Given the description of an element on the screen output the (x, y) to click on. 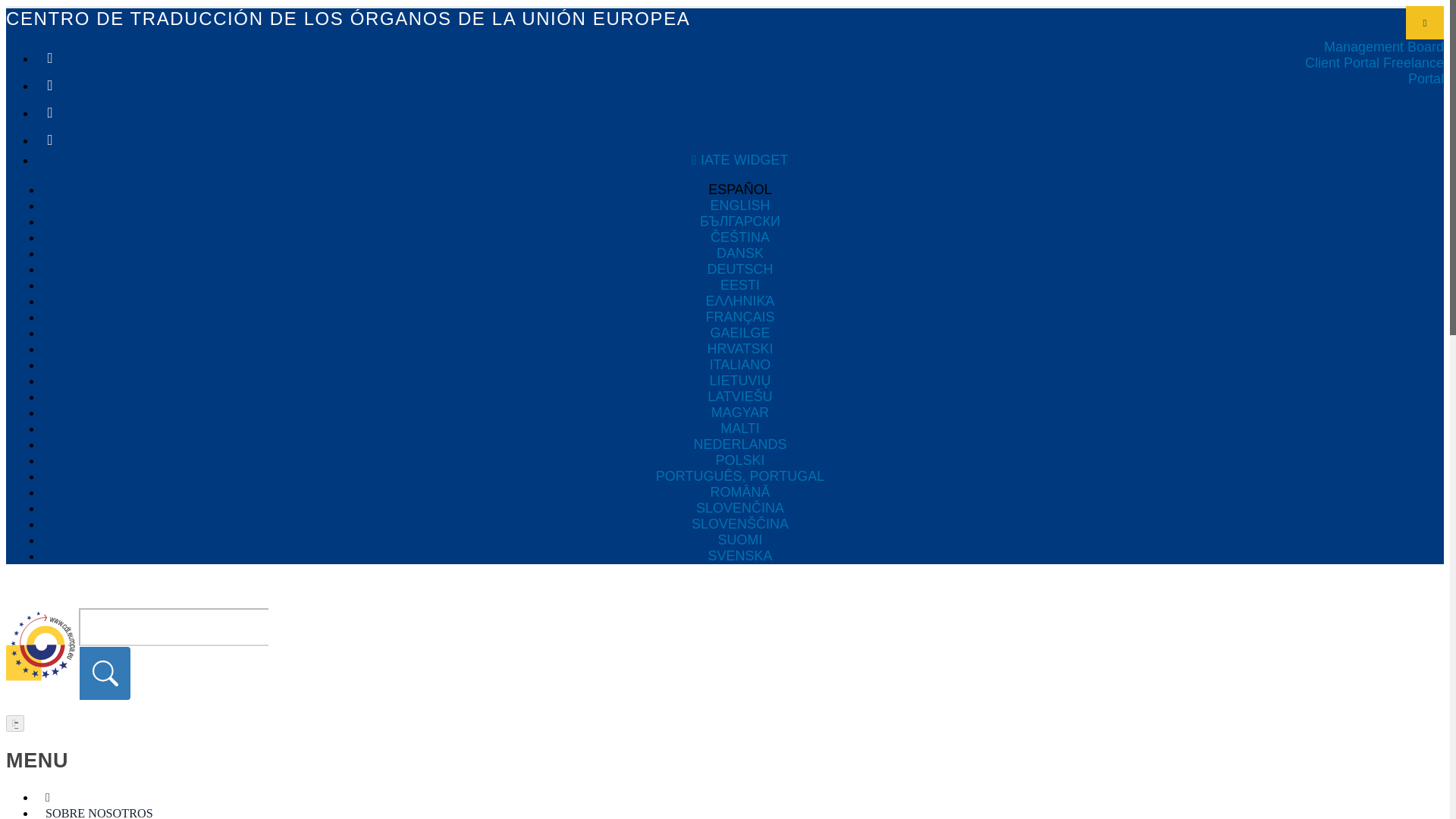
Greek (740, 301)
SVENSKA (740, 555)
NEDERLANDS (740, 444)
Spanish (740, 189)
